Given the description of an element on the screen output the (x, y) to click on. 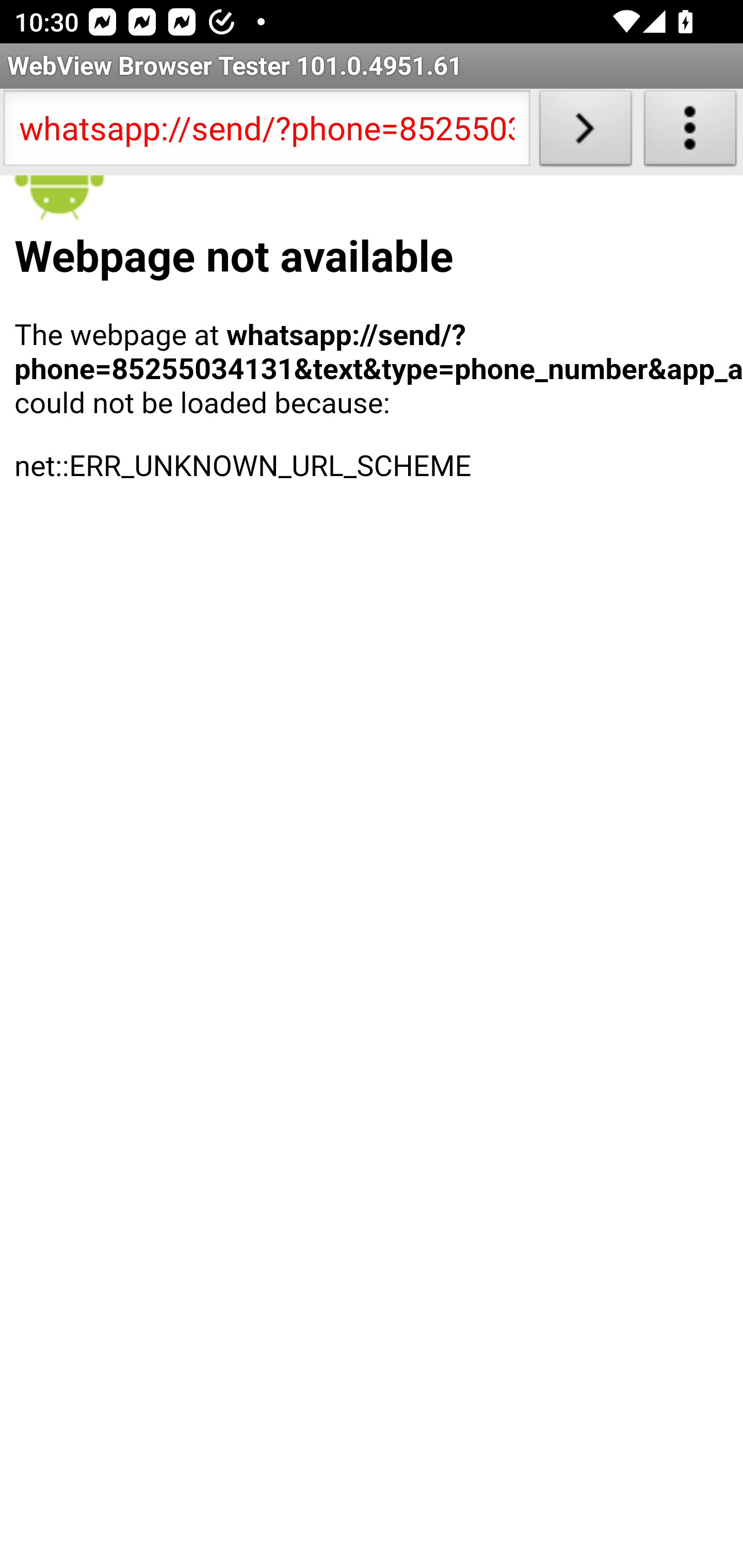
Load URL (585, 132)
About WebView (690, 132)
